Given the description of an element on the screen output the (x, y) to click on. 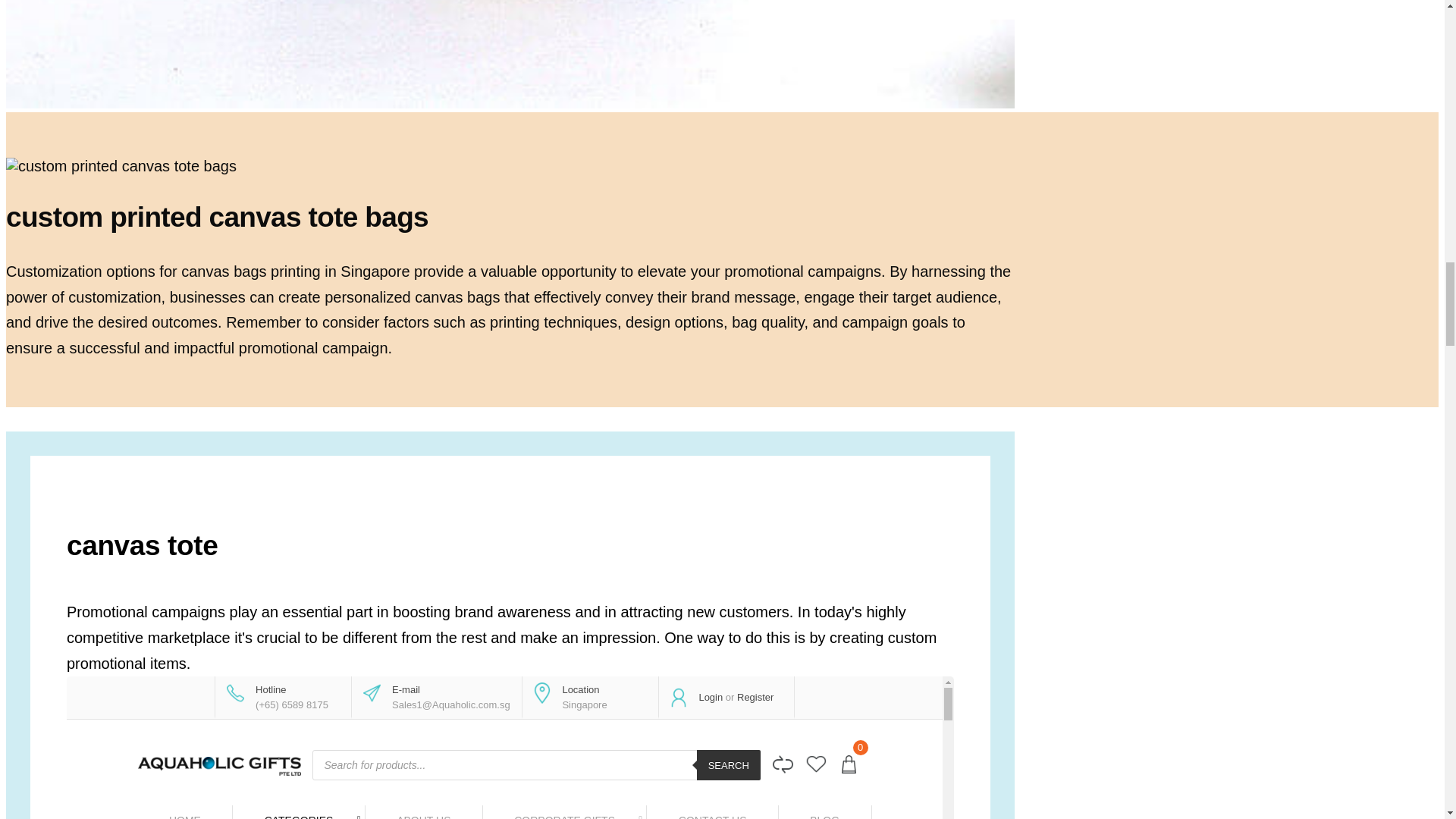
canvas tote (509, 747)
